Given the description of an element on the screen output the (x, y) to click on. 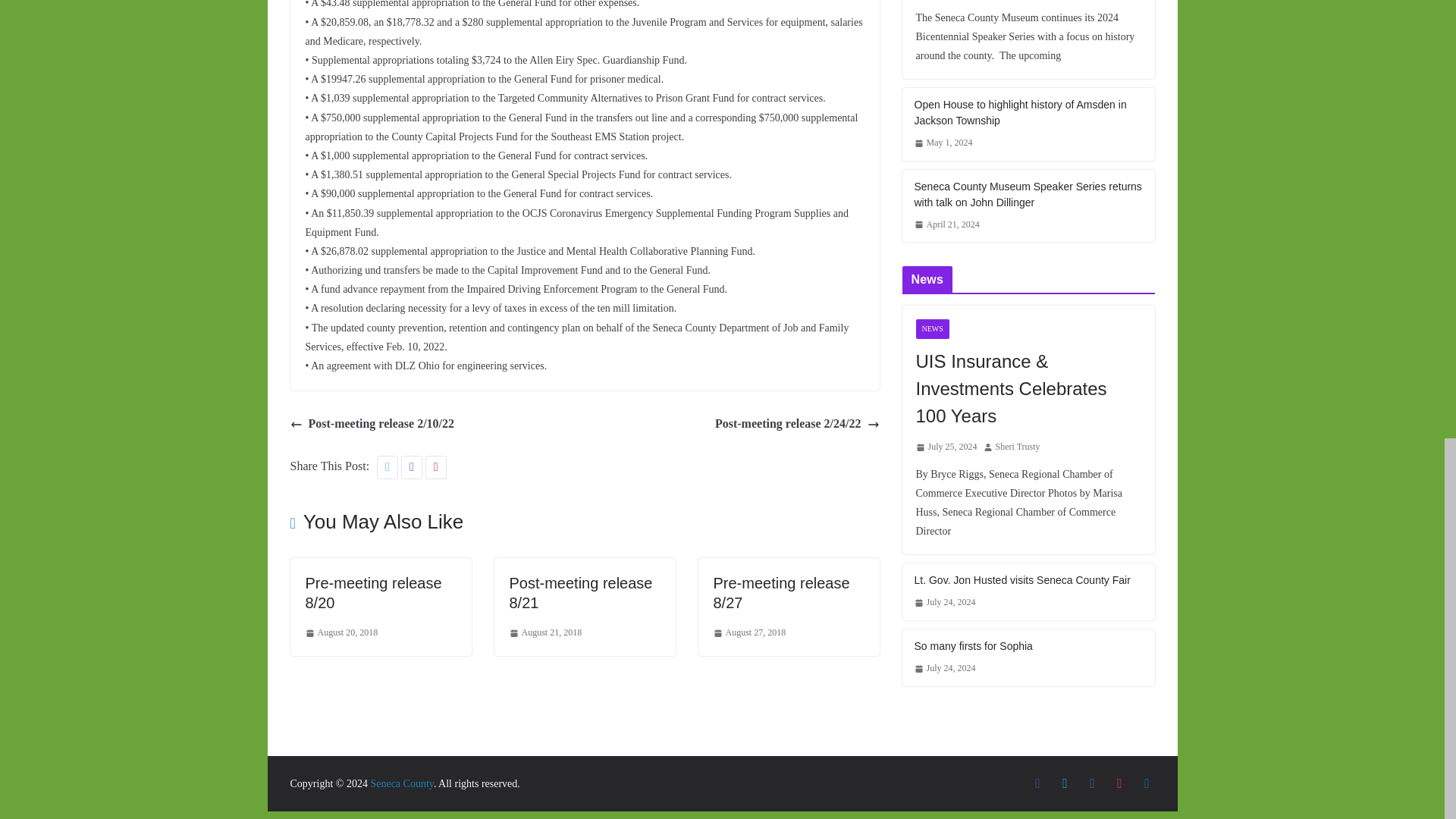
8:06 pm (340, 632)
8:10 pm (545, 632)
